Given the description of an element on the screen output the (x, y) to click on. 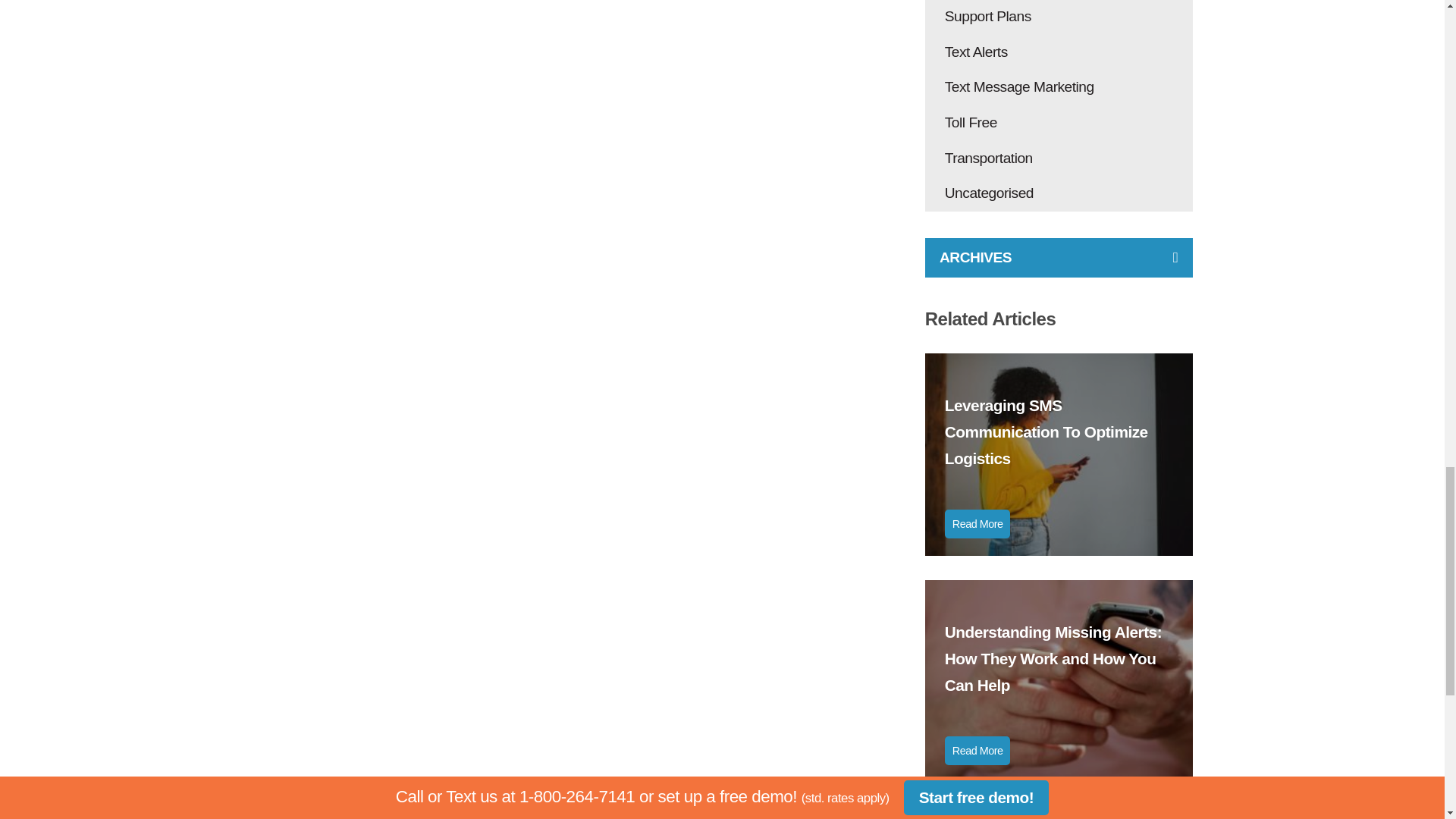
Leveraging SMS Communication To Optimize Logistics (1058, 431)
